Given the description of an element on the screen output the (x, y) to click on. 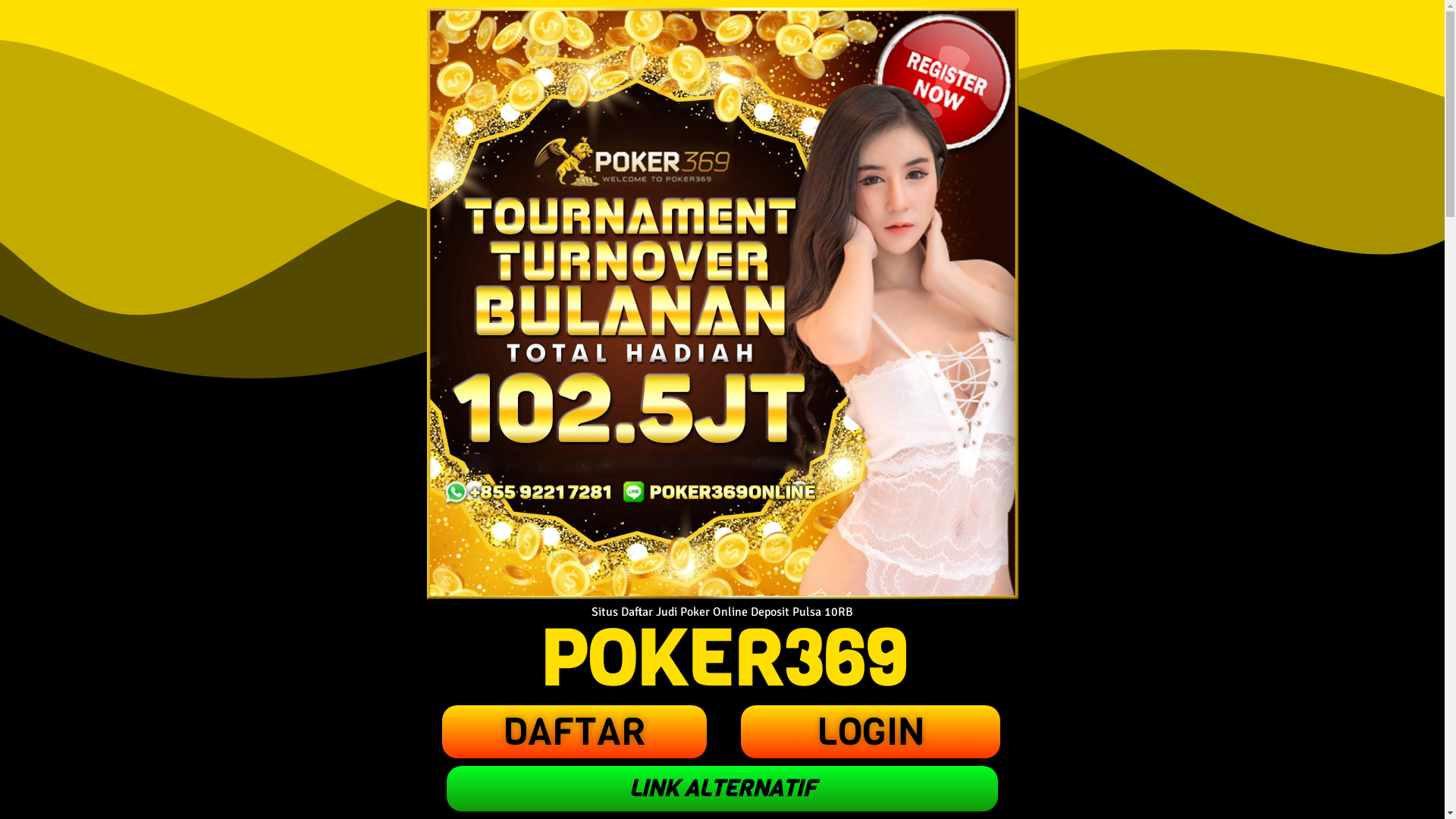
LINK ALTERNATIF Element type: text (721, 788)
DAFTAR Element type: text (574, 731)
LOGIN Element type: text (869, 731)
POKER369 Element type: text (721, 659)
